Given the description of an element on the screen output the (x, y) to click on. 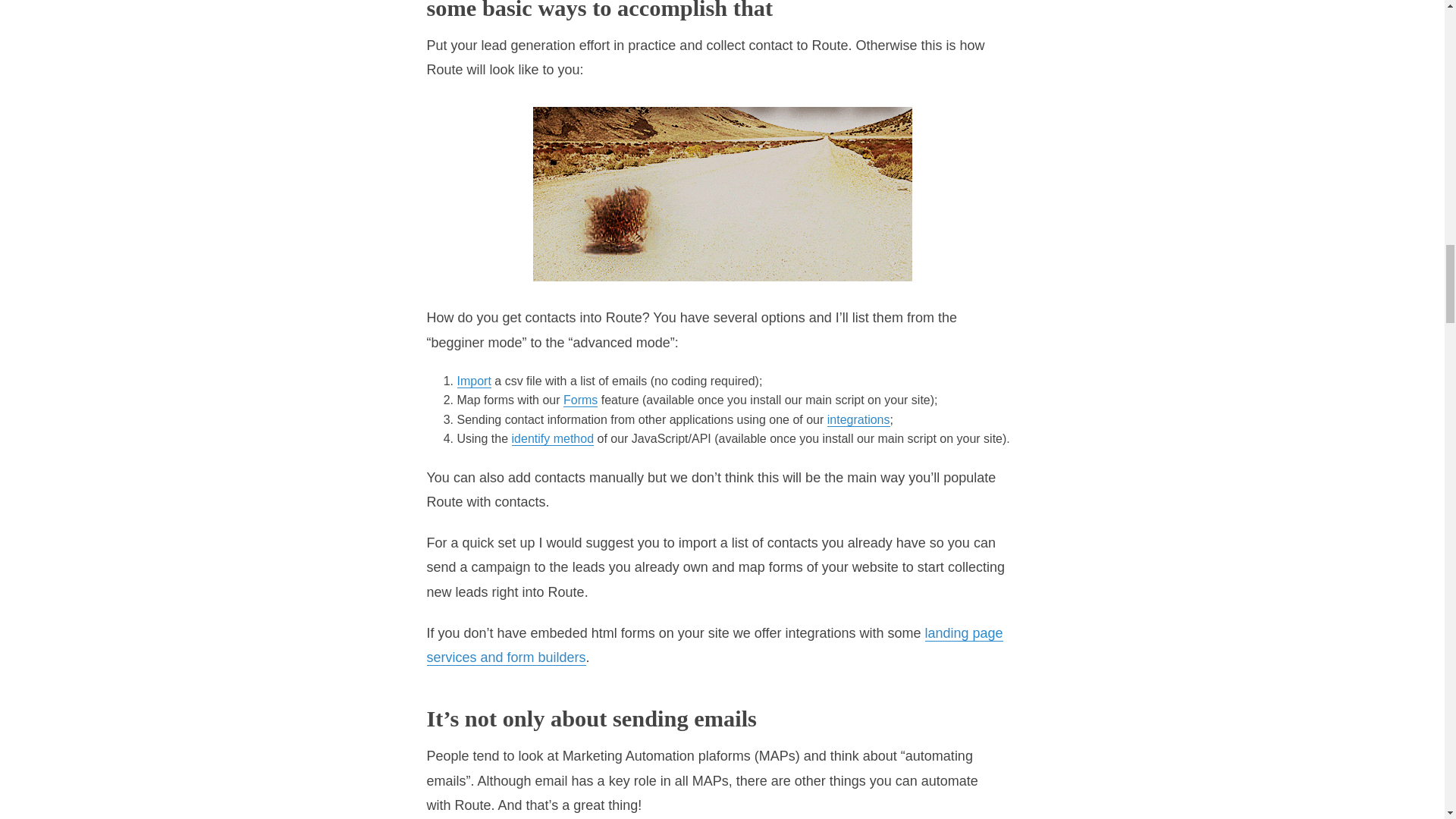
Forms (579, 400)
integrations (858, 419)
identify method (553, 438)
landing page services and form builders (714, 645)
Import (473, 381)
